Given the description of an element on the screen output the (x, y) to click on. 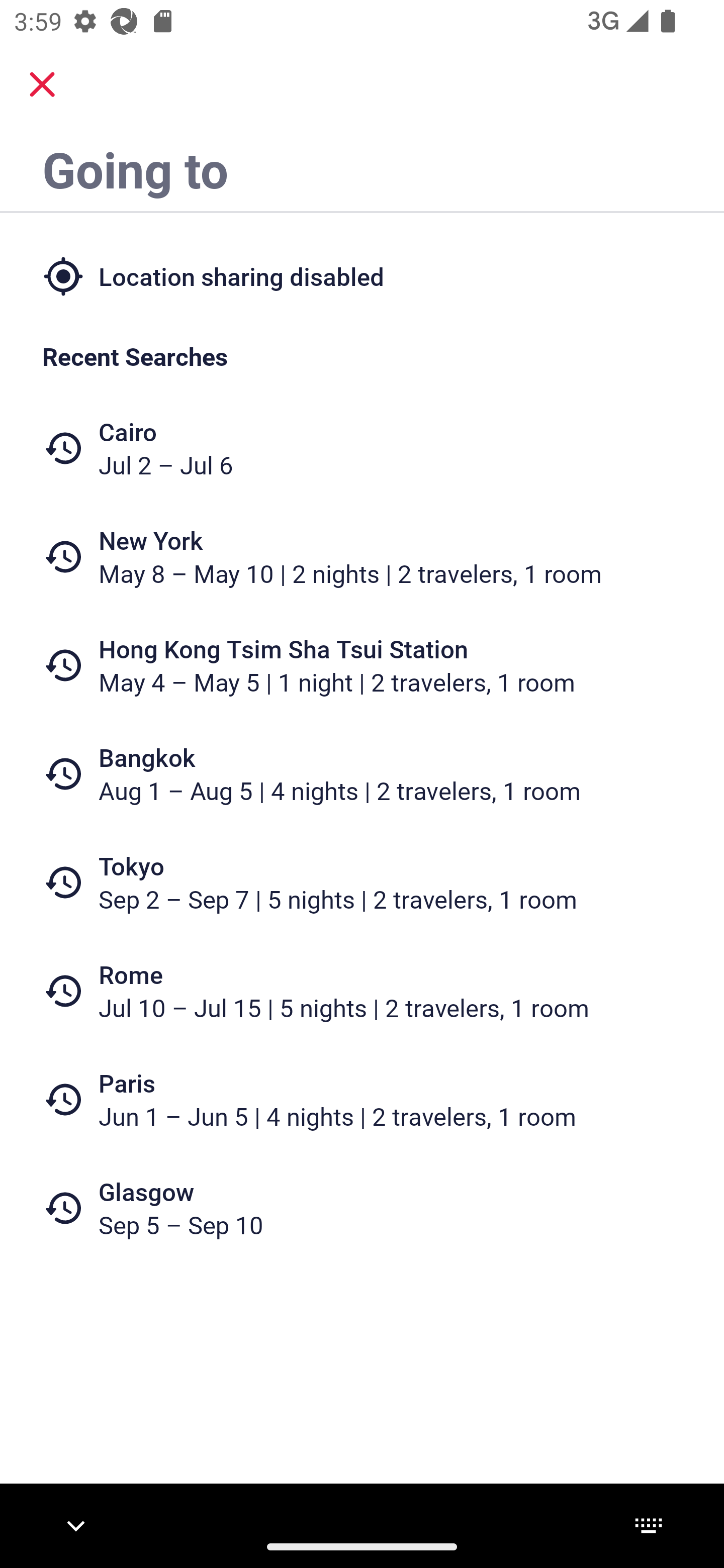
close. (42, 84)
Location sharing disabled (362, 275)
Cairo Jul 2 – Jul 6 (362, 448)
Glasgow Sep 5 – Sep 10 (362, 1208)
